Given the description of an element on the screen output the (x, y) to click on. 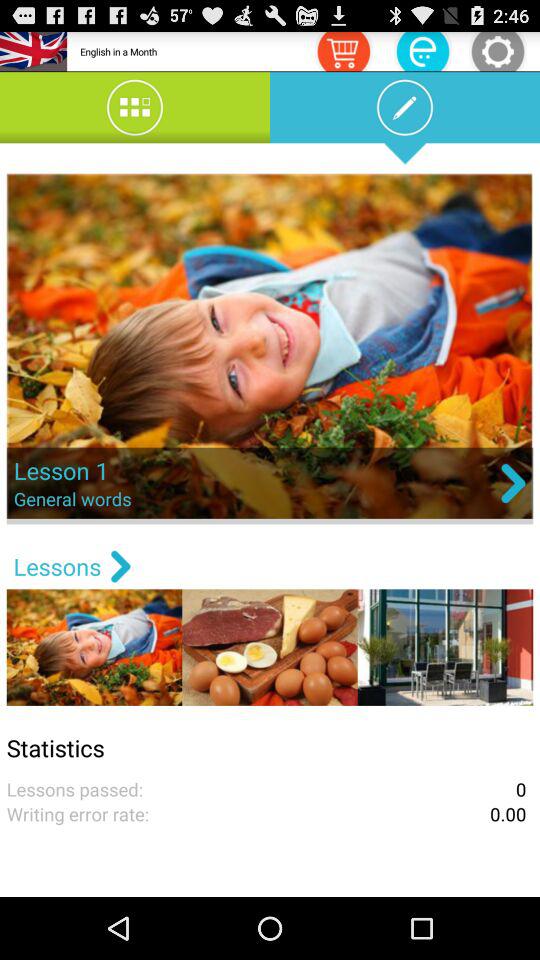
tap icon to the right of english in a (343, 50)
